Given the description of an element on the screen output the (x, y) to click on. 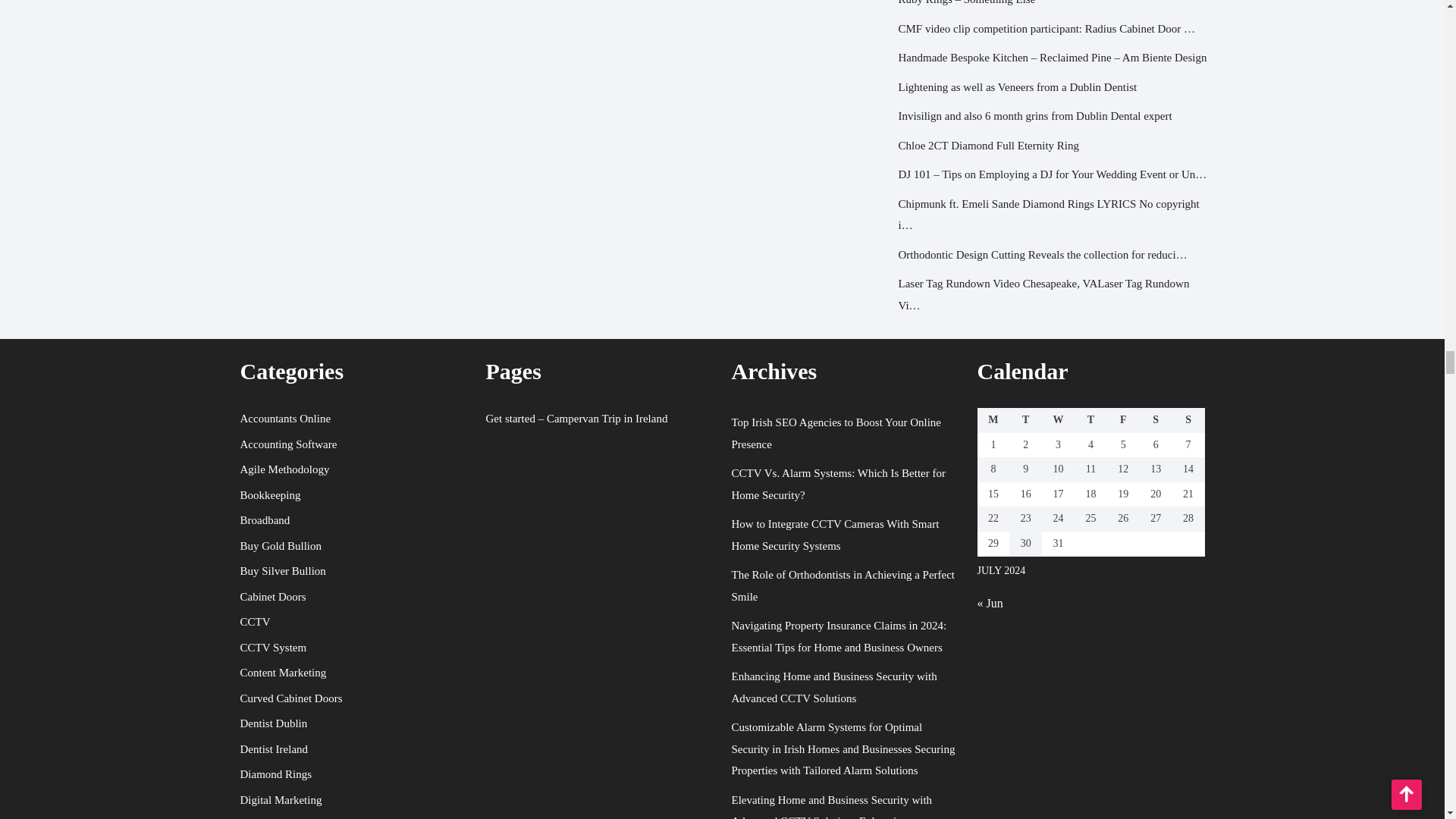
Thursday (1090, 420)
Monday (992, 420)
Wednesday (1058, 420)
Tuesday (1025, 420)
Sunday (1188, 420)
Saturday (1156, 420)
Friday (1123, 420)
